Given the description of an element on the screen output the (x, y) to click on. 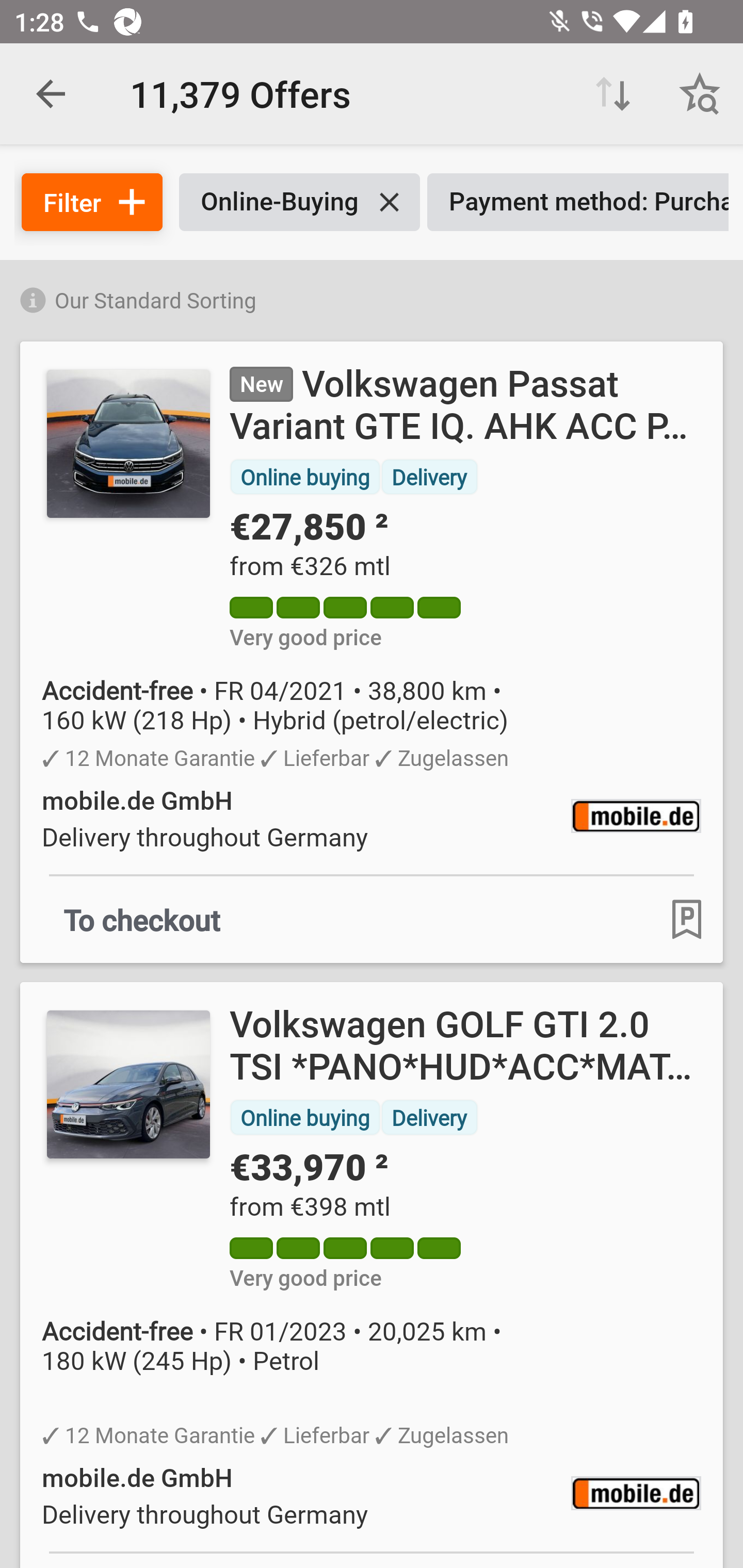
Navigate up (50, 93)
Sort options (612, 93)
Save search (699, 93)
Online-Buying Remove Online-Buying (299, 202)
Payment method: Purchase (577, 202)
Filter (91, 202)
Our Standard Sorting (371, 296)
To checkout (142, 919)
